Given the description of an element on the screen output the (x, y) to click on. 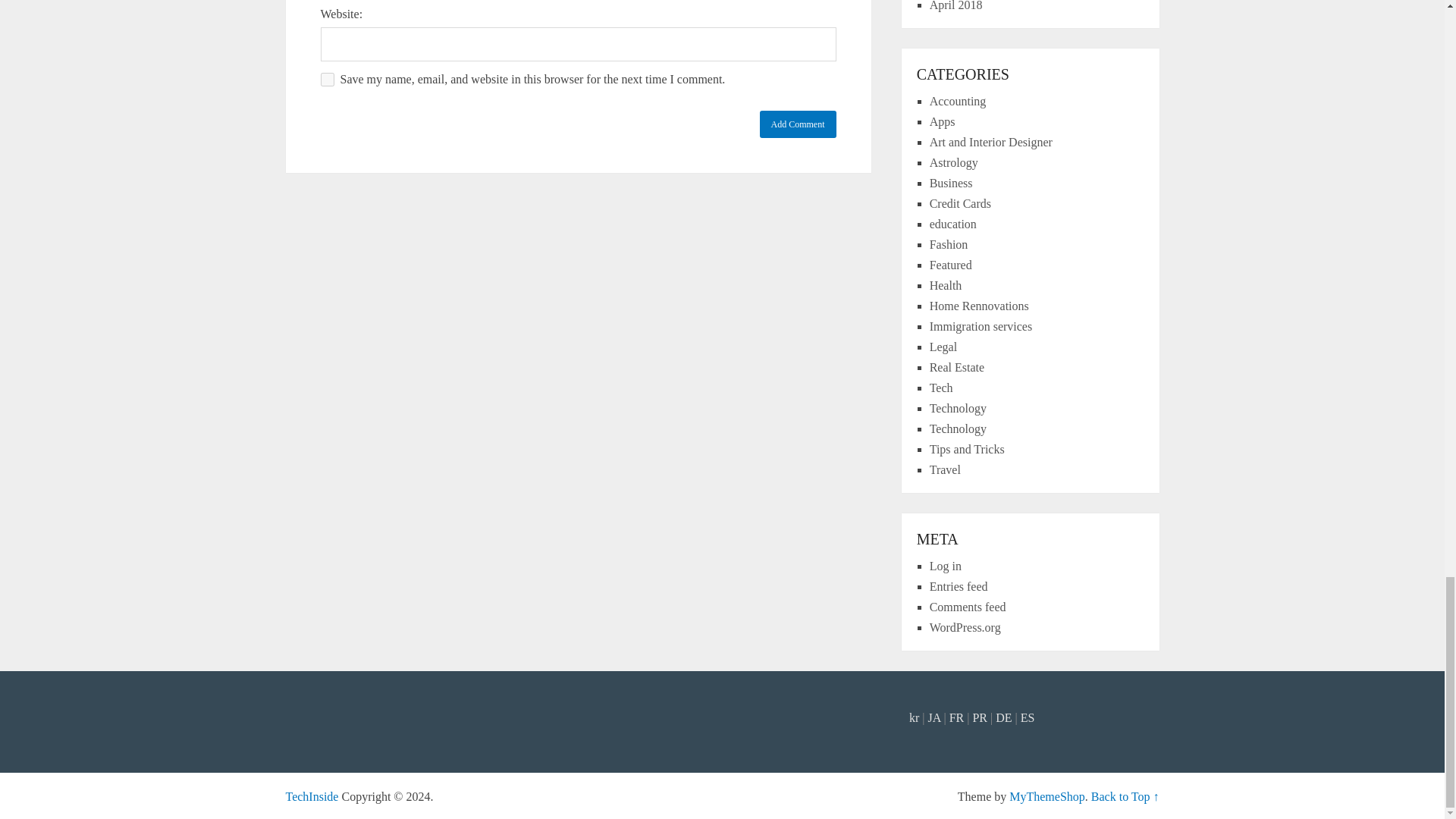
Add Comment (797, 124)
Add Comment (797, 124)
Just another WordPress site (311, 796)
yes (326, 79)
